Given the description of an element on the screen output the (x, y) to click on. 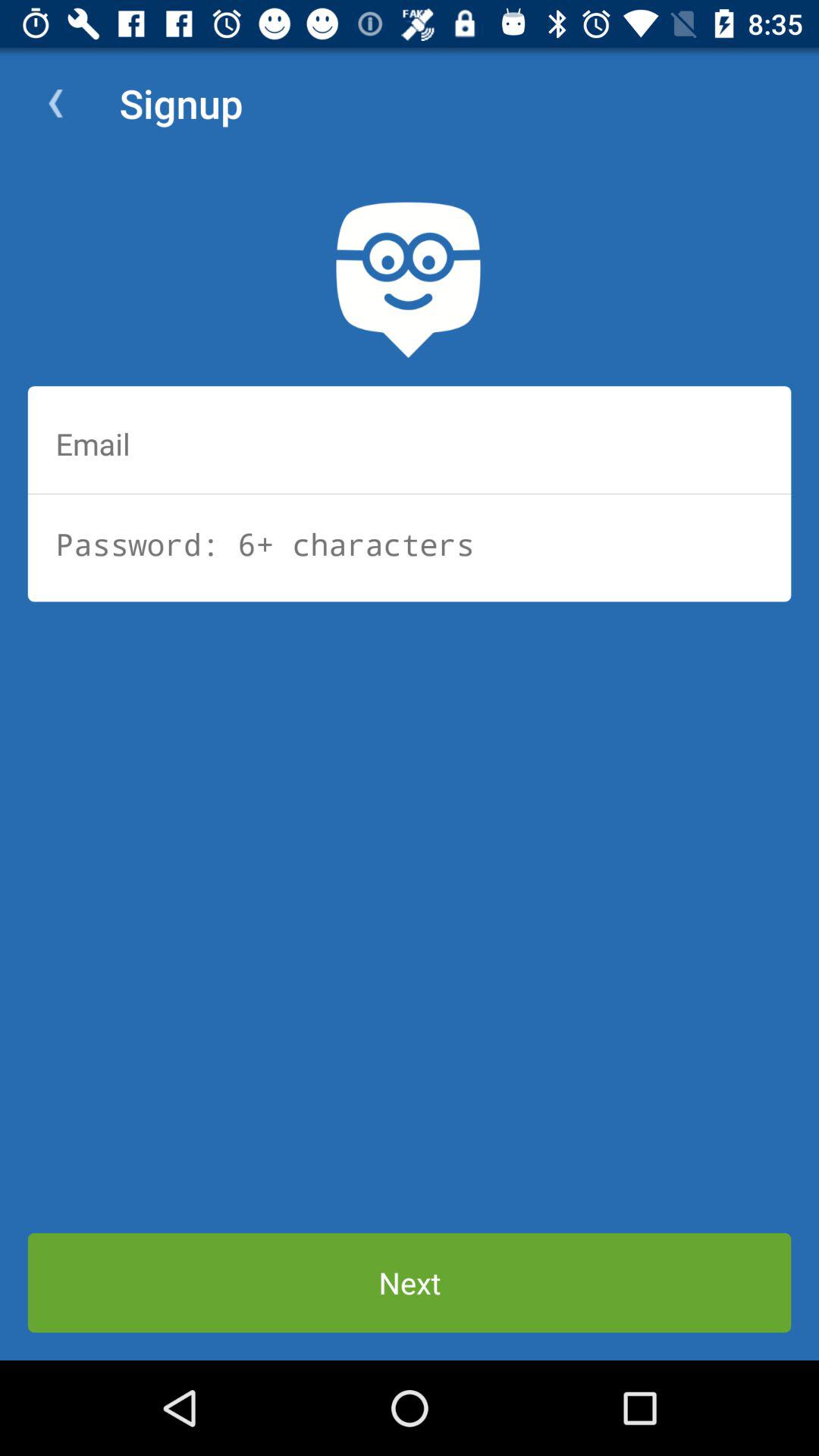
enter your password (409, 543)
